Given the description of an element on the screen output the (x, y) to click on. 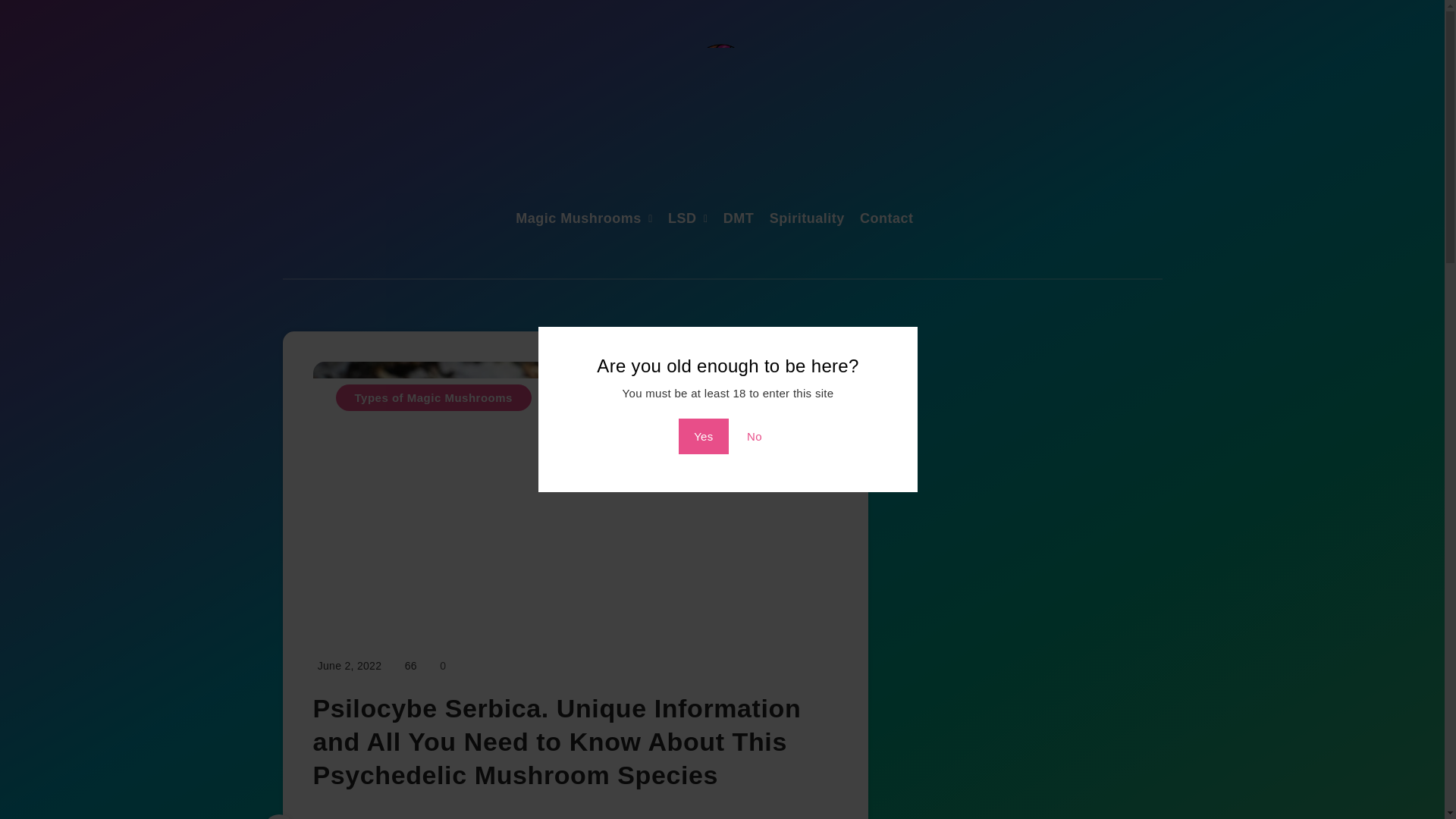
Contact (887, 219)
Views (409, 665)
No (754, 436)
DMT (738, 219)
LSD (682, 219)
Spirituality (807, 219)
Types of Magic Mushrooms (432, 397)
Yes (703, 436)
Magic Mushrooms (578, 219)
